Given the description of an element on the screen output the (x, y) to click on. 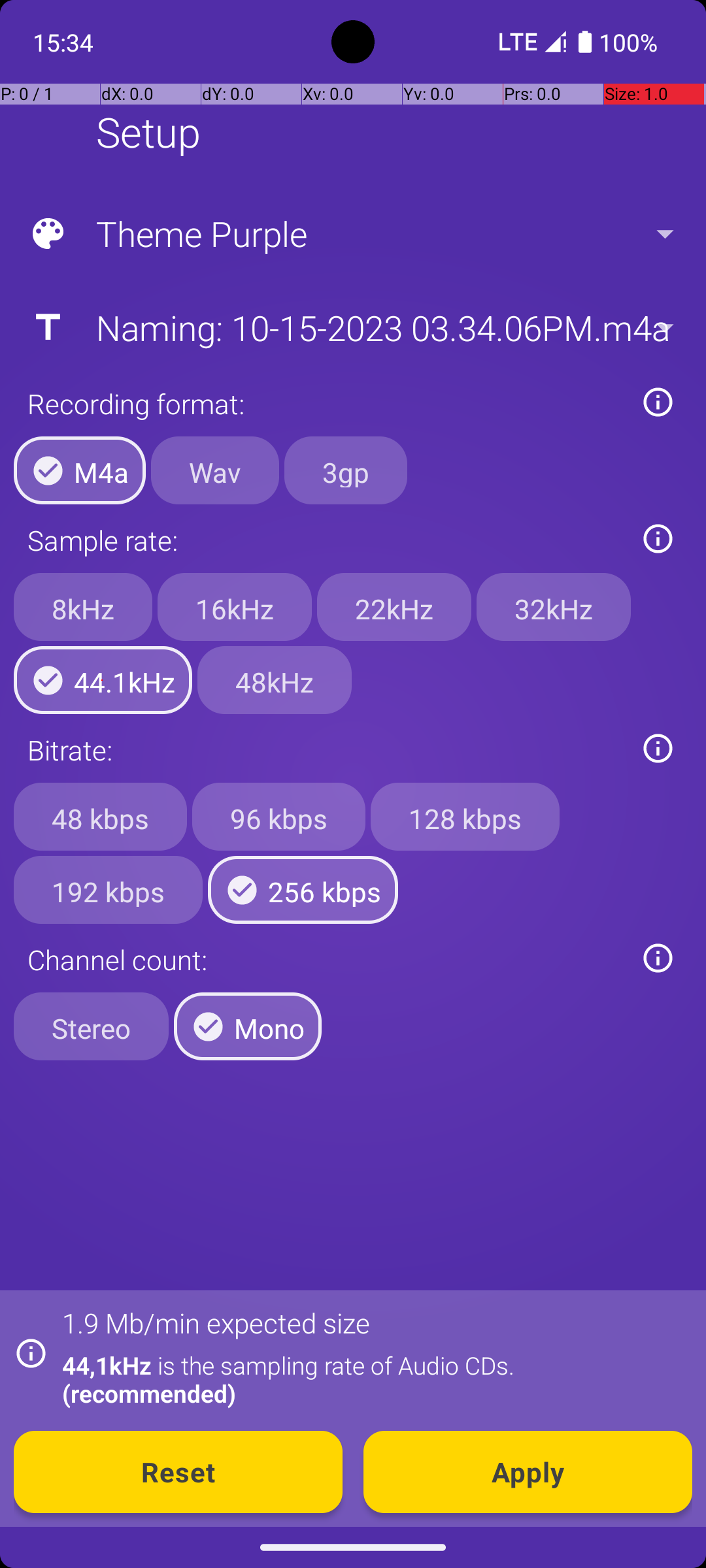
1.9 Mb/min expected size Element type: android.widget.TextView (215, 1322)
44,1kHz is the sampling rate of Audio CDs. (recommended) Element type: android.widget.TextView (370, 1378)
Naming: 10-15-2023 03.34.06PM.m4a Element type: android.widget.TextView (352, 327)
